Given the description of an element on the screen output the (x, y) to click on. 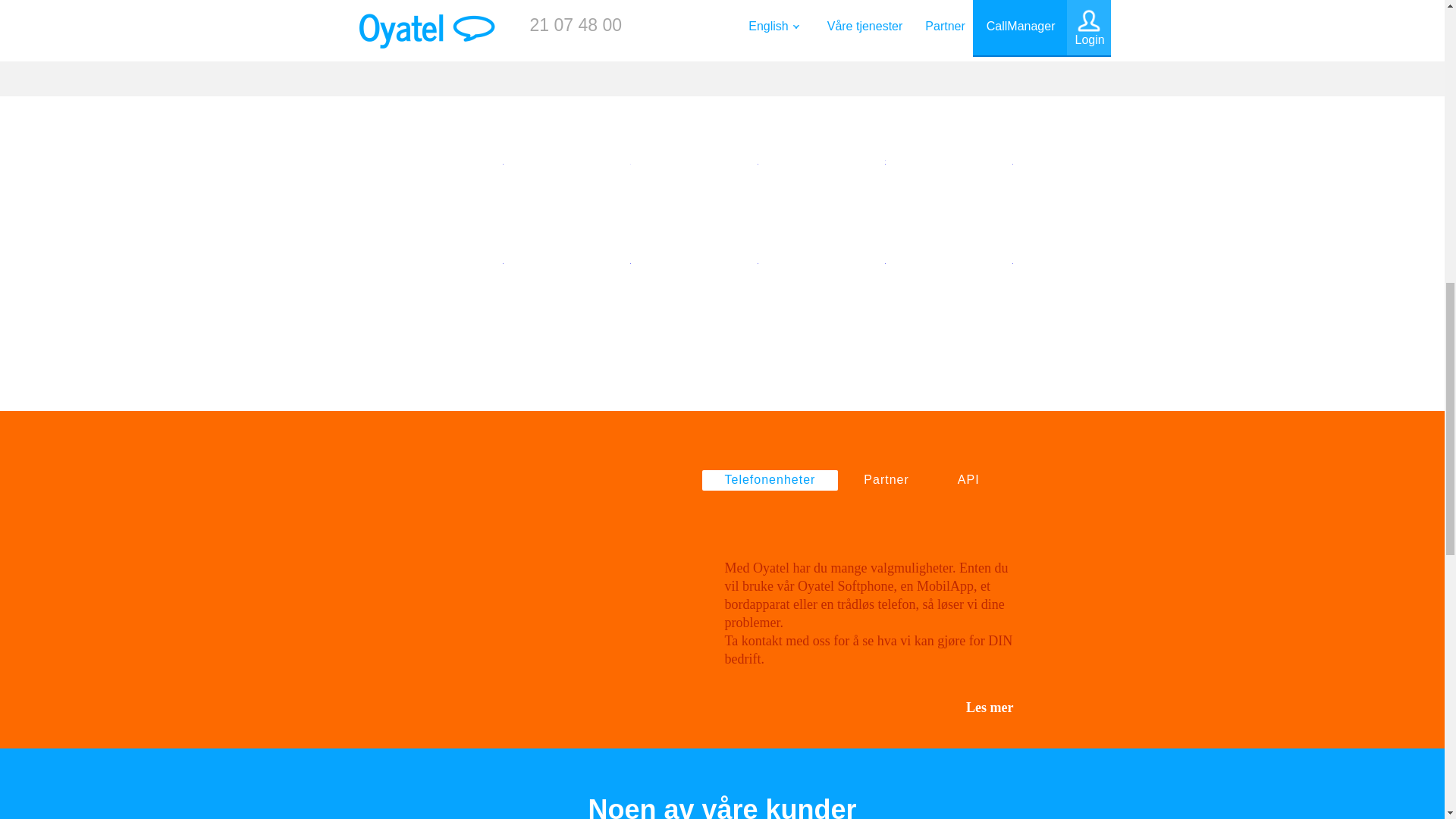
6 (467, 286)
Flere alternativer (460, 4)
7 (594, 286)
1 (467, 187)
4 (849, 187)
2 (594, 187)
5 (977, 187)
3 (722, 187)
Se detaljer (922, 8)
